Given the description of an element on the screen output the (x, y) to click on. 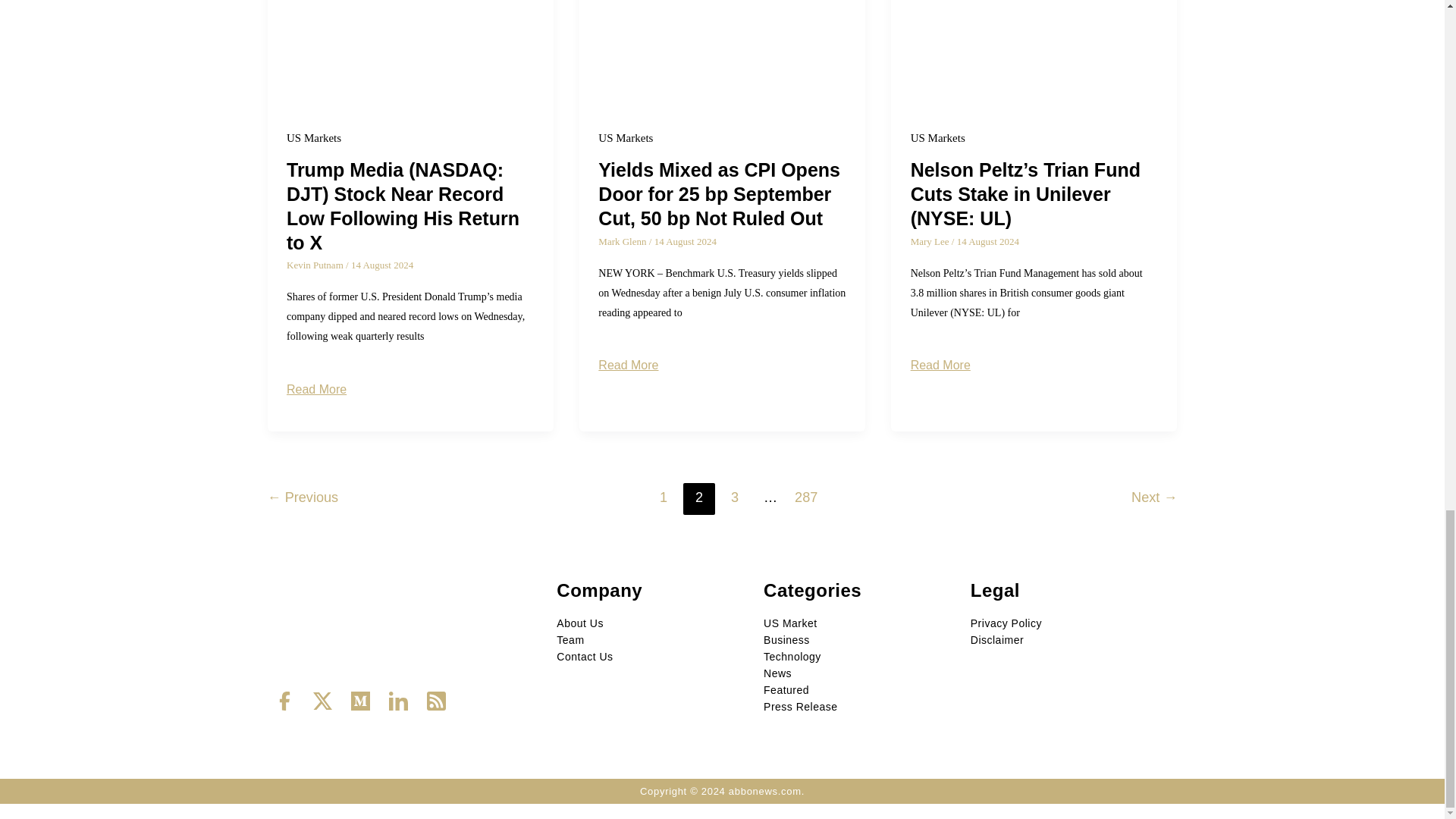
View all posts by Mark Glenn (622, 241)
View all posts by Mary Lee (931, 241)
View all posts by Kevin Putnam (316, 265)
